Given the description of an element on the screen output the (x, y) to click on. 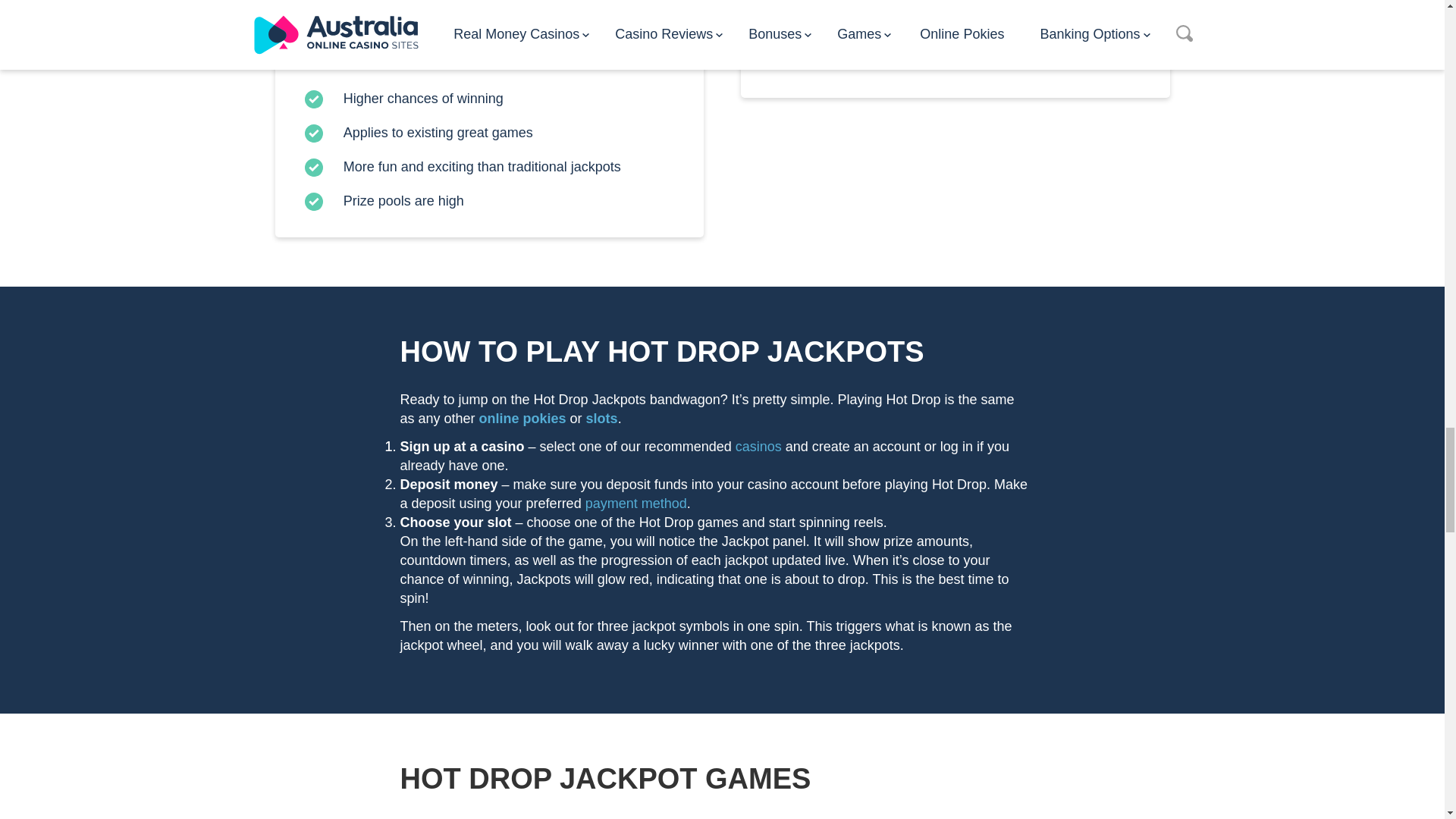
slots (601, 418)
casinos (758, 446)
payment method (636, 503)
online pokies (522, 418)
